Given the description of an element on the screen output the (x, y) to click on. 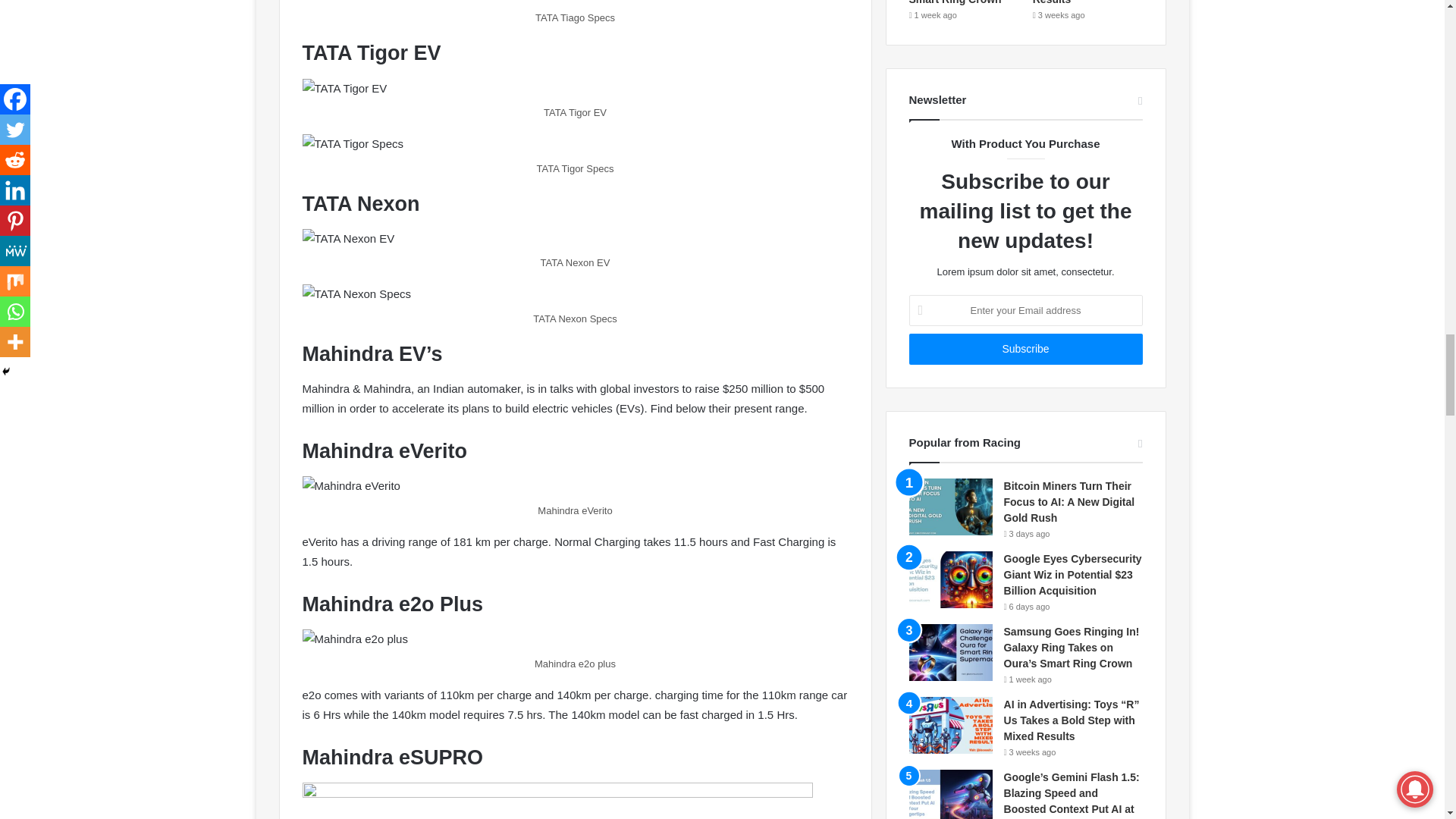
Subscribe (1025, 348)
